Given the description of an element on the screen output the (x, y) to click on. 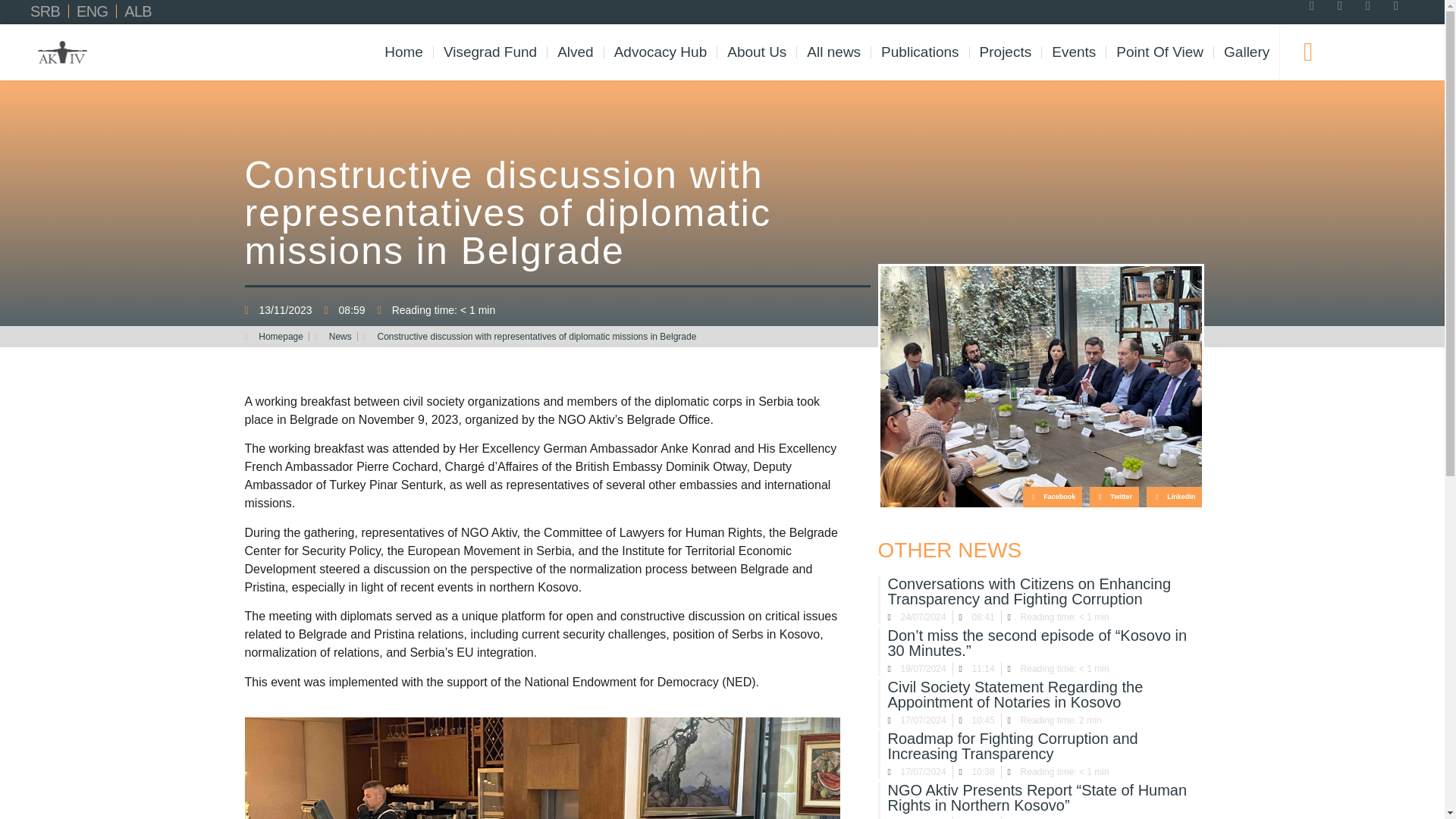
SRB (44, 11)
About Us (756, 52)
News (333, 336)
Events (1073, 52)
Point Of View (1159, 52)
ENG (92, 11)
All news (833, 52)
Visegrad Fund (490, 52)
Projects (1005, 52)
Advocacy Hub (660, 52)
Home (403, 52)
ALB (137, 11)
Alved (575, 52)
